Given the description of an element on the screen output the (x, y) to click on. 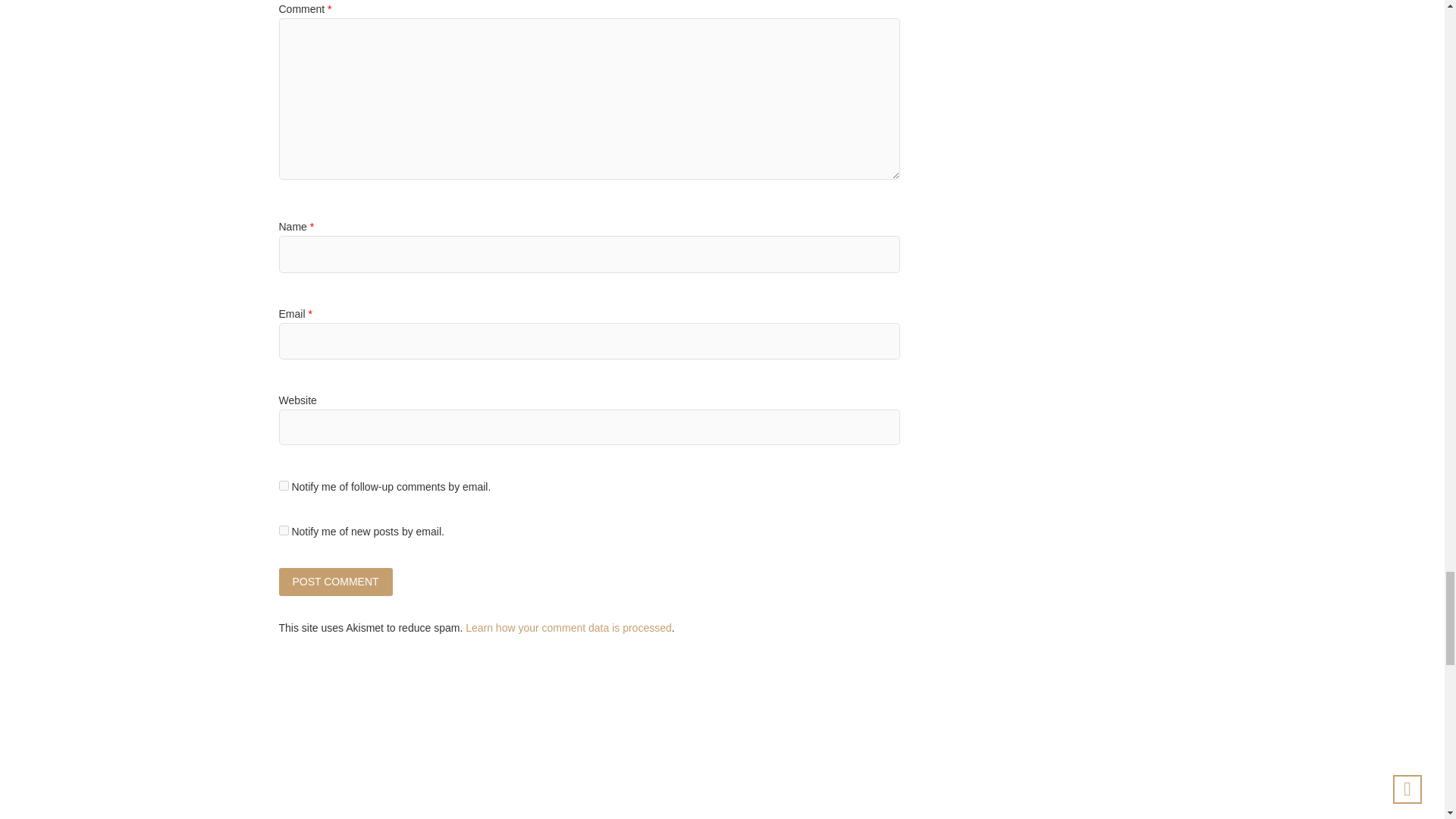
subscribe (283, 530)
Post Comment (336, 582)
subscribe (283, 485)
